Given the description of an element on the screen output the (x, y) to click on. 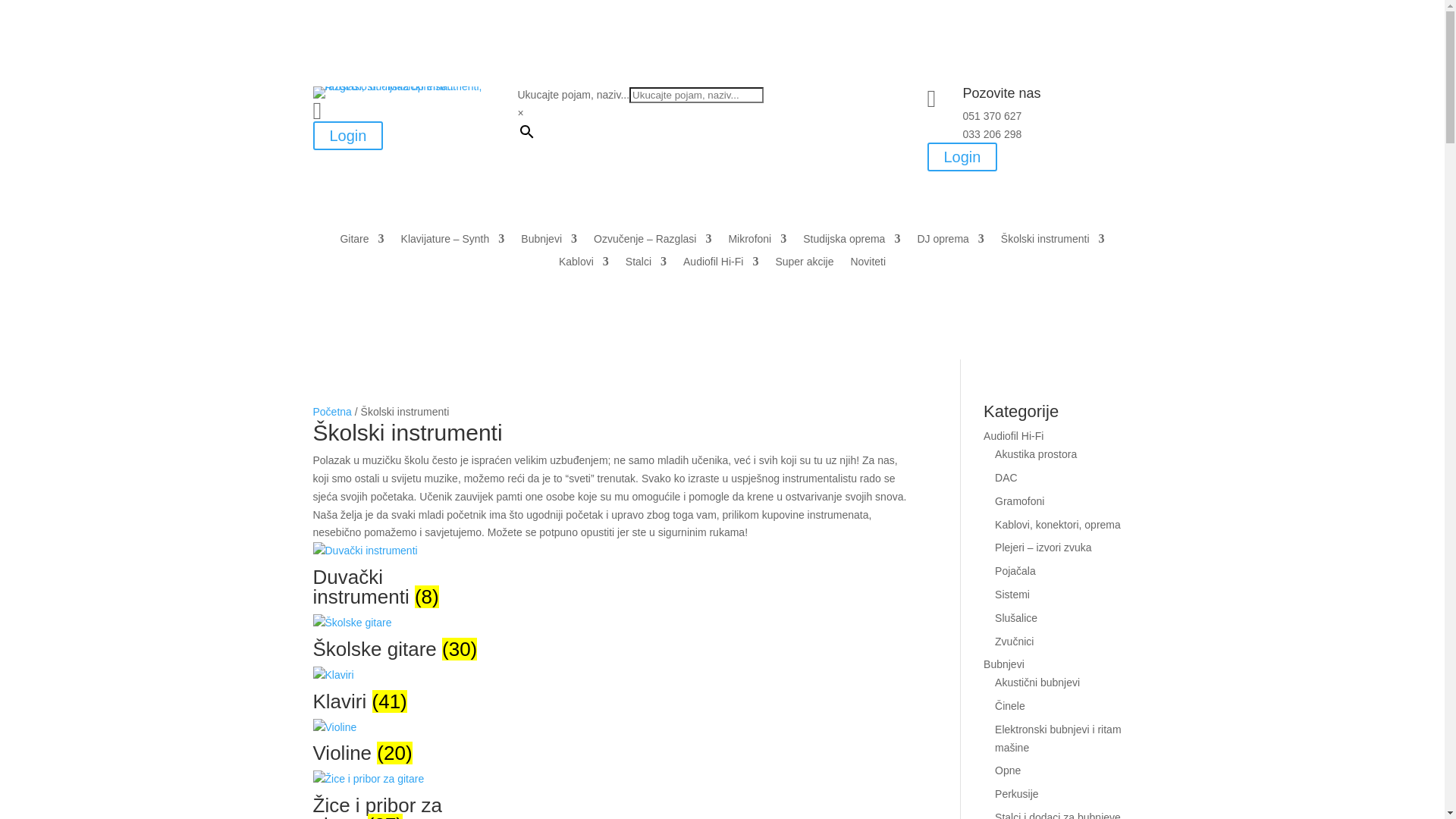
Audiofil Hi-Fi Element type: text (720, 264)
Bubnjevi Element type: text (548, 241)
Klaviri (41) Element type: text (397, 693)
Noviteti Element type: text (867, 264)
Opne Element type: text (1007, 770)
Audiofil Hi-Fi Element type: text (1013, 435)
DJ oprema Element type: text (949, 241)
Sistemi Element type: text (1011, 594)
Mikrofoni Element type: text (757, 241)
Gitare Element type: text (361, 241)
Studijska oprema Element type: text (851, 241)
Perkusije Element type: text (1016, 793)
Akustika prostora Element type: text (1035, 454)
DAC Element type: text (1005, 477)
Violine (20) Element type: text (397, 746)
Kablovi, konektori, oprema Element type: text (1057, 524)
Bubnjevi Element type: text (1003, 664)
Login Element type: text (961, 156)
Artist logo 2021 transparent Element type: hover (414, 92)
Super akcije Element type: text (804, 264)
Kablovi Element type: text (583, 264)
Login Element type: text (347, 135)
Gramofoni Element type: text (1019, 501)
Stalci Element type: text (645, 264)
